Given the description of an element on the screen output the (x, y) to click on. 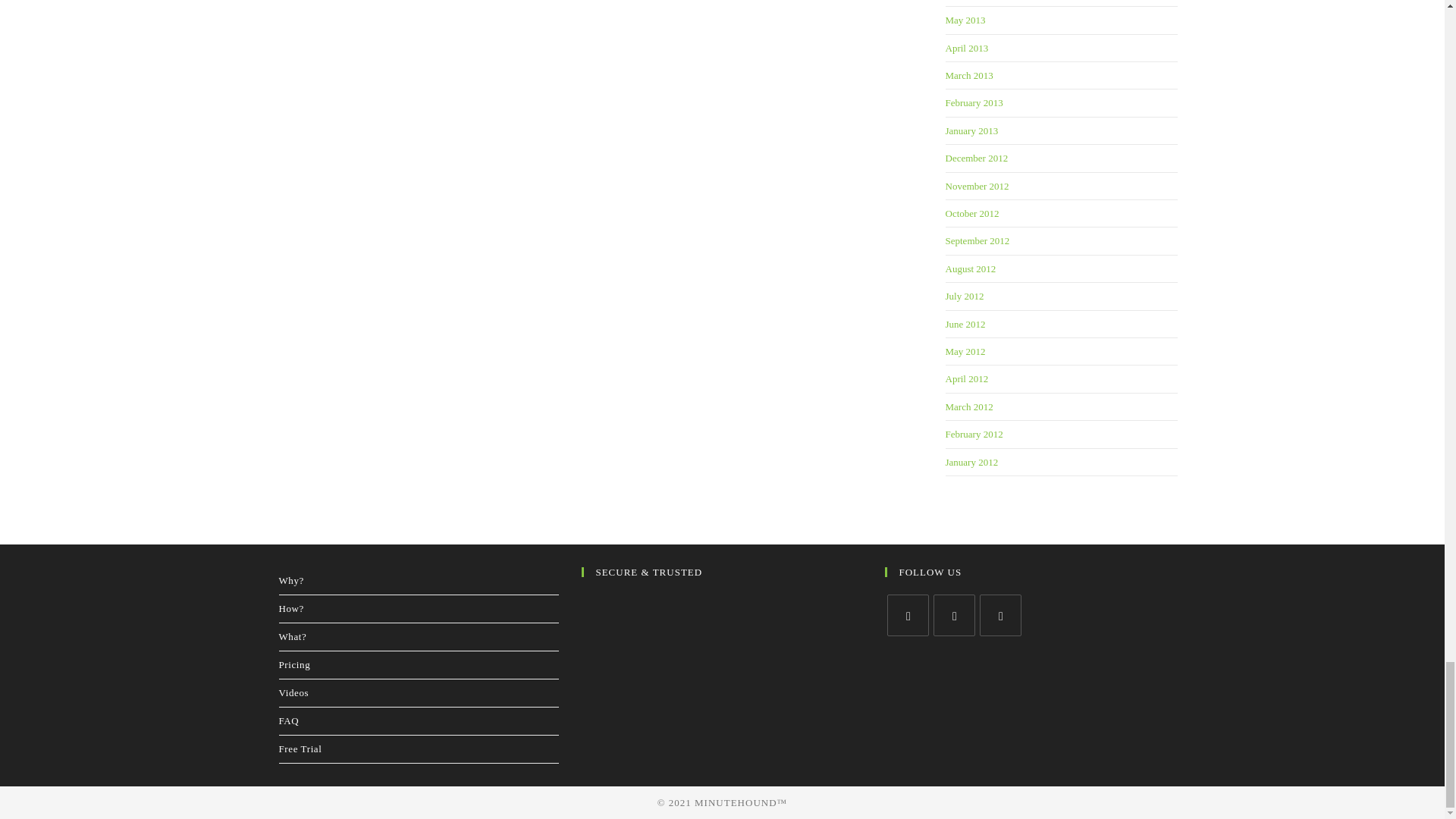
Twitter (907, 615)
Youtube (1000, 615)
Facebook (954, 615)
